Given the description of an element on the screen output the (x, y) to click on. 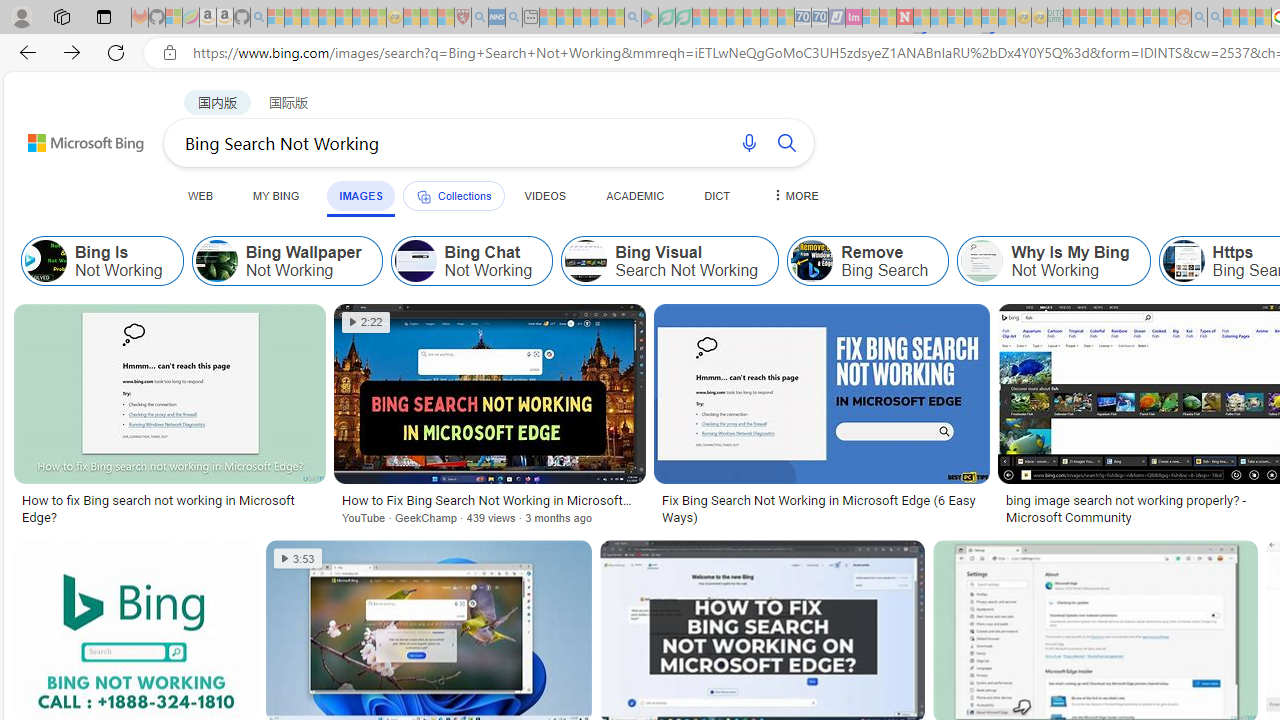
14 Common Myths Debunked By Scientific Facts - Sleeping (938, 17)
Class: b_pri_nav_svg (423, 196)
google - Search - Sleeping (632, 17)
Image result for Bing Search Not Working (821, 393)
Local - MSN - Sleeping (445, 17)
DITOGAMES AG Imprint - Sleeping (1055, 17)
Robert H. Shmerling, MD - Harvard Health - Sleeping (462, 17)
How to fix Bing search not working in Microsoft Edge? (169, 508)
MY BING (276, 195)
Why Is My Bing Not Working (982, 260)
